Given the description of an element on the screen output the (x, y) to click on. 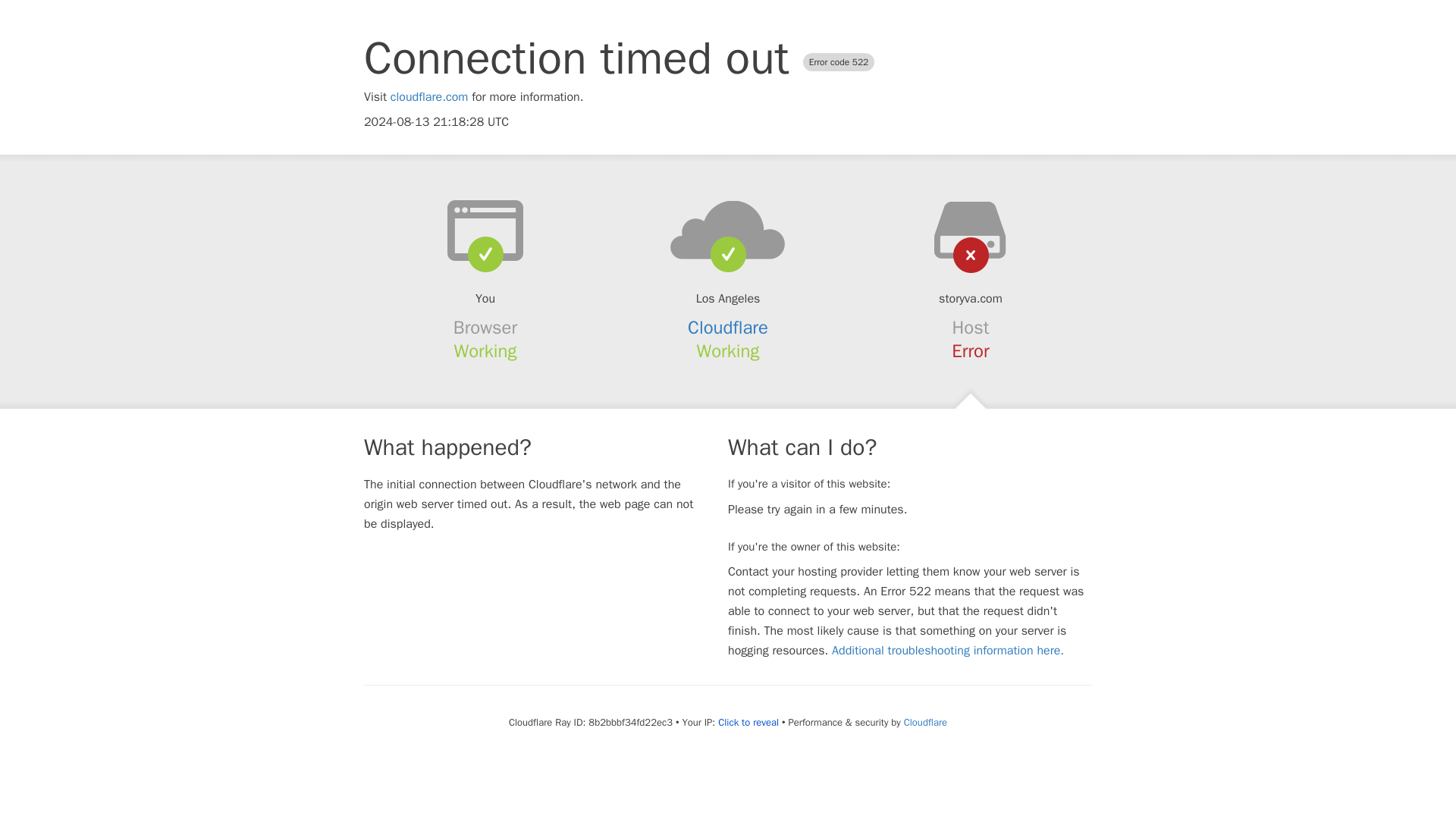
Cloudflare (727, 327)
Additional troubleshooting information here. (947, 650)
cloudflare.com (429, 96)
Cloudflare (925, 721)
Click to reveal (747, 722)
